Given the description of an element on the screen output the (x, y) to click on. 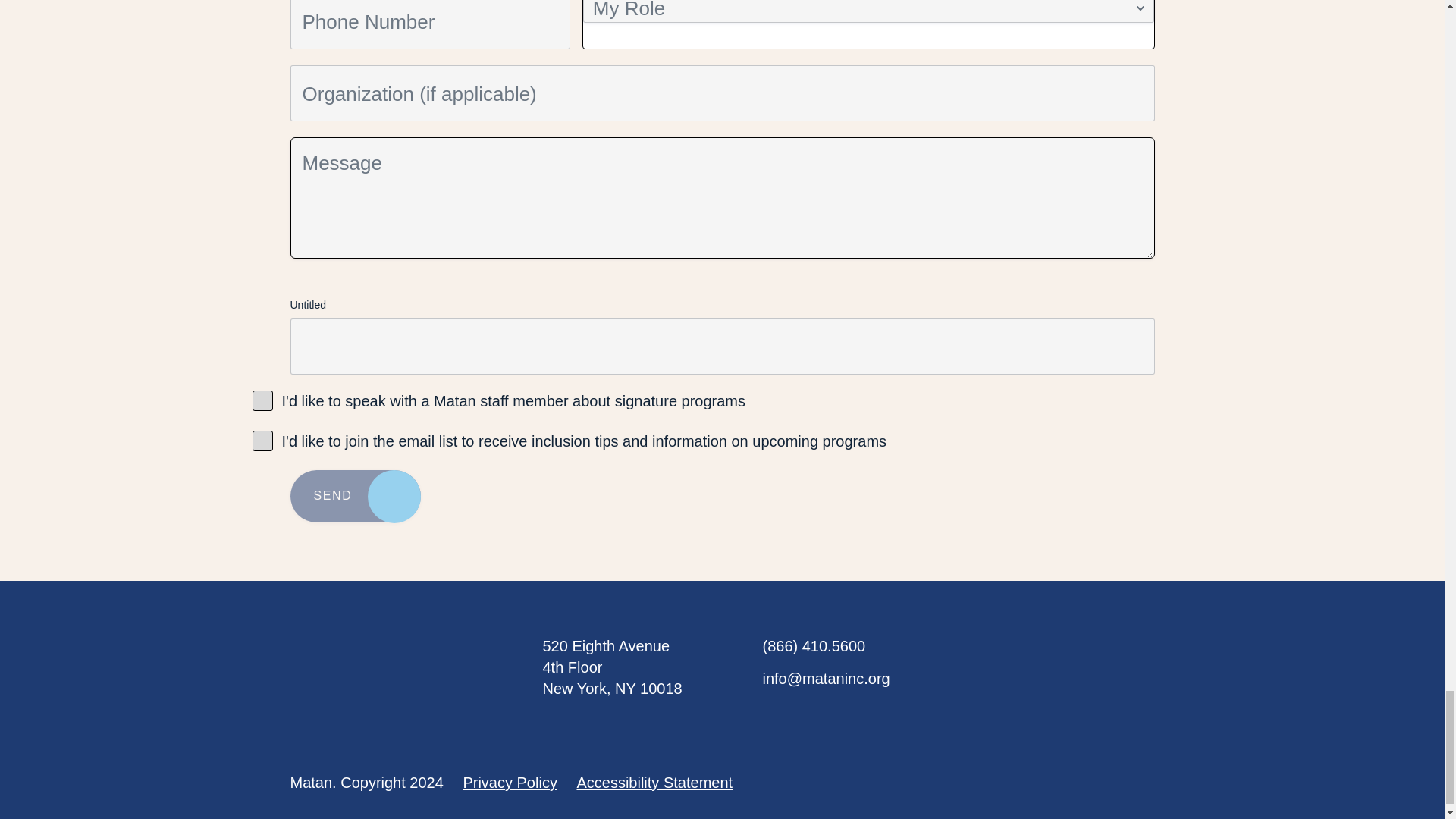
Accessibility Statement (654, 782)
SEND (354, 496)
Privacy Policy (509, 782)
